Given the description of an element on the screen output the (x, y) to click on. 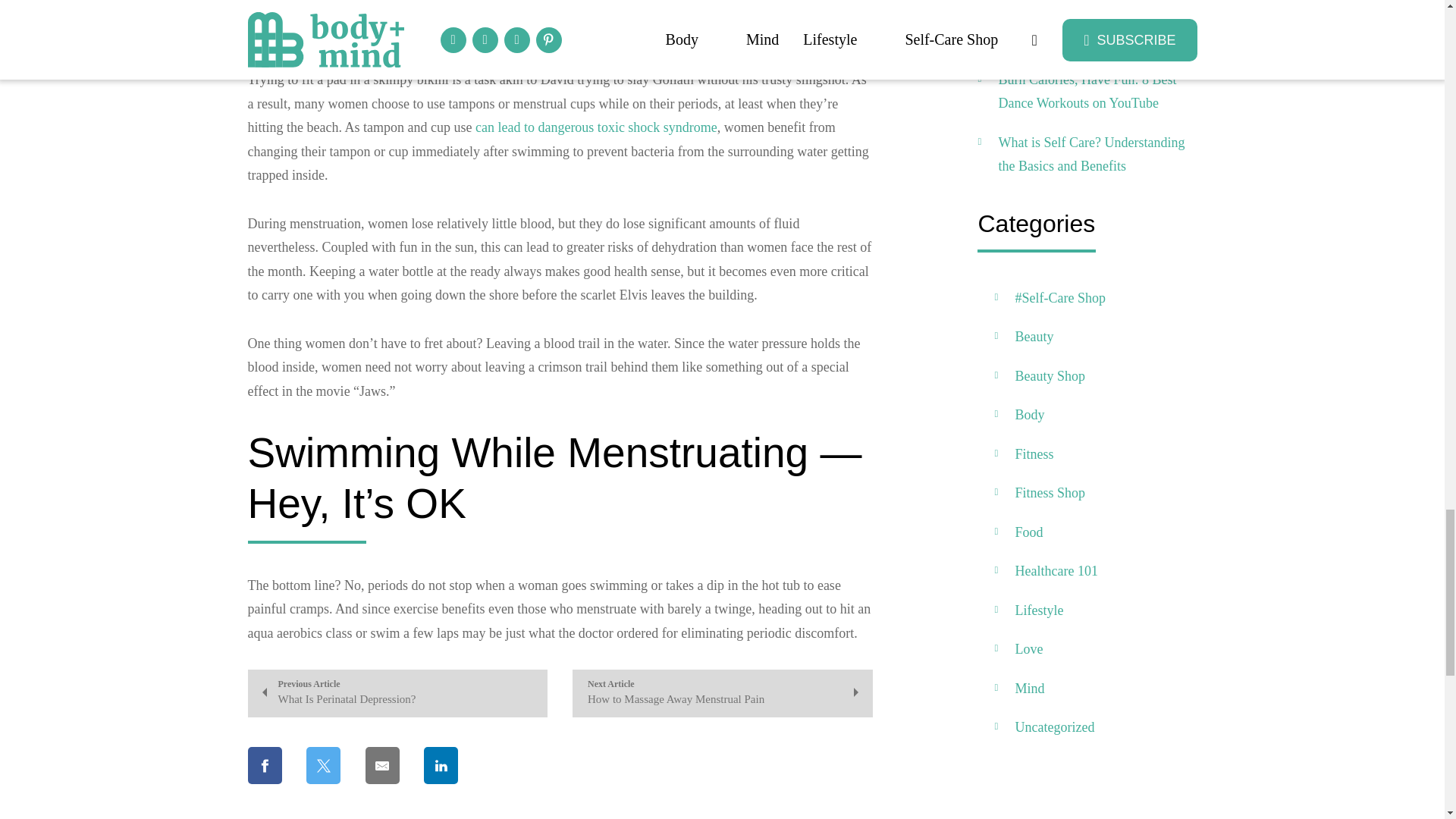
can lead to dangerous toxic shock syndrome (596, 127)
diving experts agree the risk does not increase (722, 693)
